Given the description of an element on the screen output the (x, y) to click on. 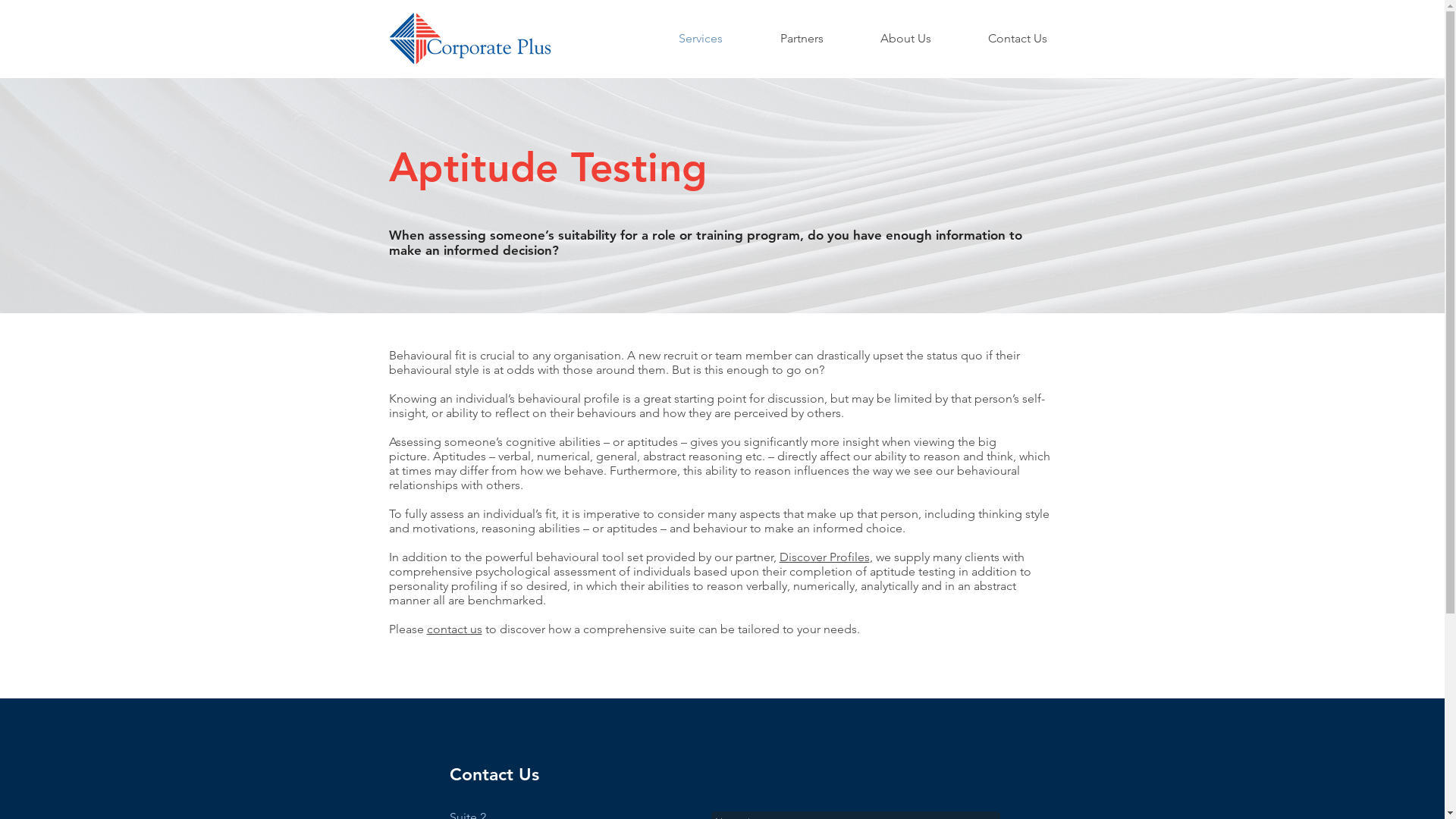
Contact Us Element type: text (1018, 38)
Discover Profiles Element type: text (824, 556)
Services Element type: text (699, 38)
contact us Element type: text (453, 628)
About Us Element type: text (906, 38)
Partners Element type: text (800, 38)
